Given the description of an element on the screen output the (x, y) to click on. 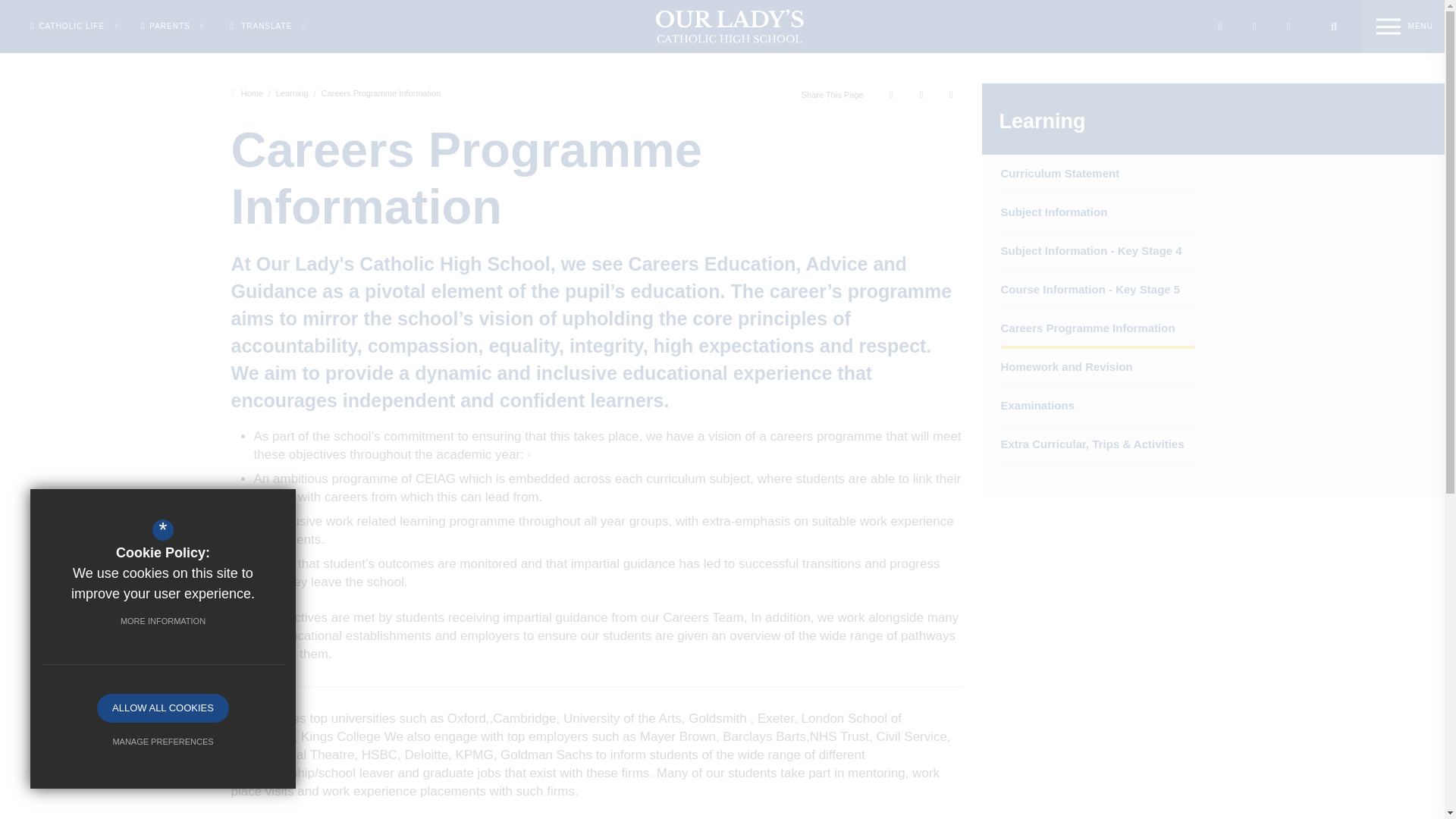
Search site (1333, 26)
Parents (172, 26)
Email this page (949, 94)
Share on Twitter (918, 94)
 Our Lady's Catholic High School (712, 26)
PARENTS (172, 26)
CATHOLIC LIFE (73, 26)
Catholic Life (73, 26)
Share on Facebook (889, 94)
